Given the description of an element on the screen output the (x, y) to click on. 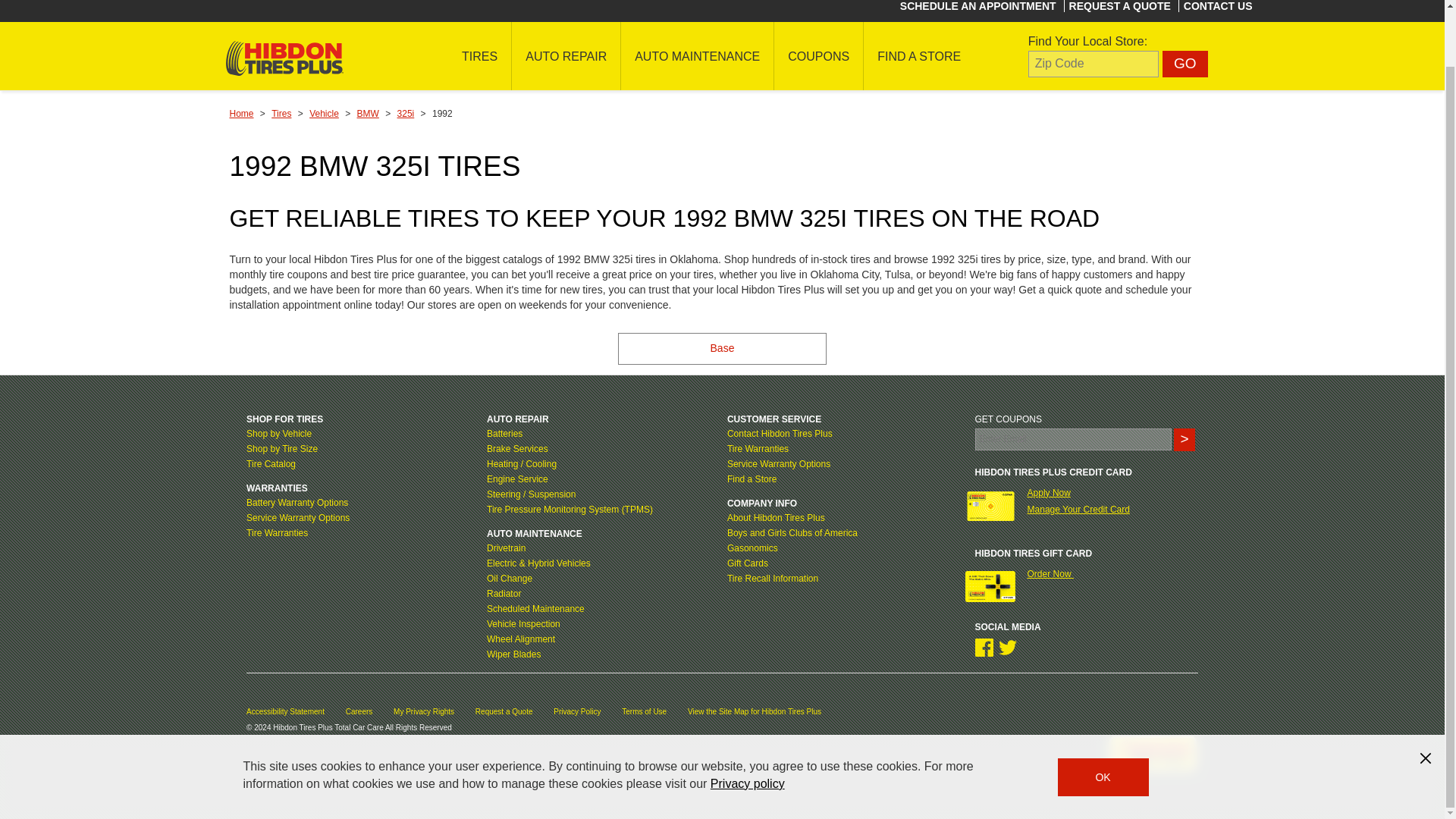
Zip Code (1092, 63)
Facebook (983, 647)
Twitter (1007, 647)
SCHEDULE AN APPOINTMENT (978, 6)
Privacy policy (747, 721)
CONTACT US (1217, 6)
agree button (1102, 715)
Enter Email (1073, 439)
TIRES (479, 56)
REQUEST A QUOTE (1119, 6)
close button (1425, 696)
AUTO REPAIR (566, 56)
